Given the description of an element on the screen output the (x, y) to click on. 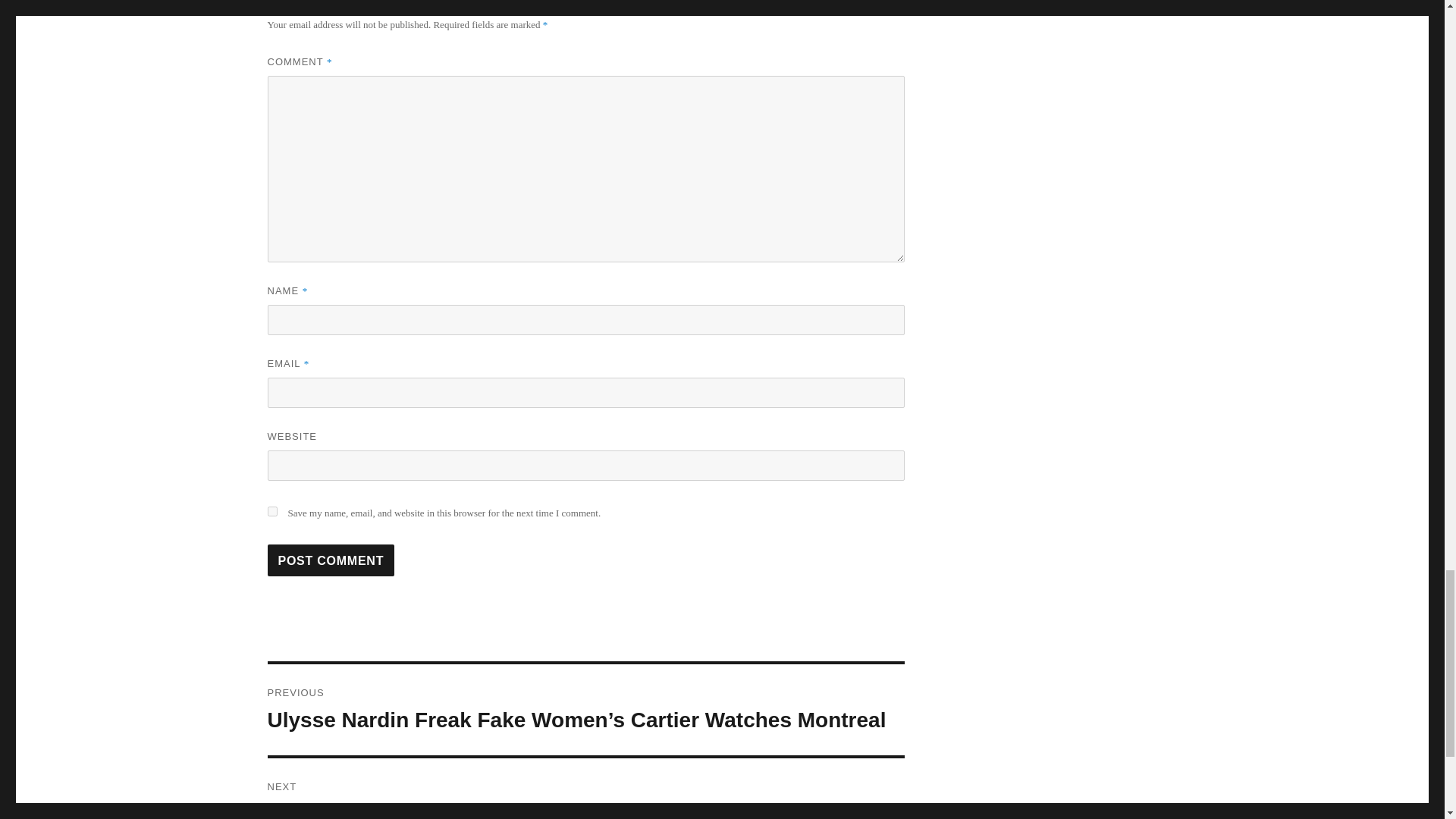
Post Comment (330, 560)
yes (271, 511)
Post Comment (330, 560)
